Given the description of an element on the screen output the (x, y) to click on. 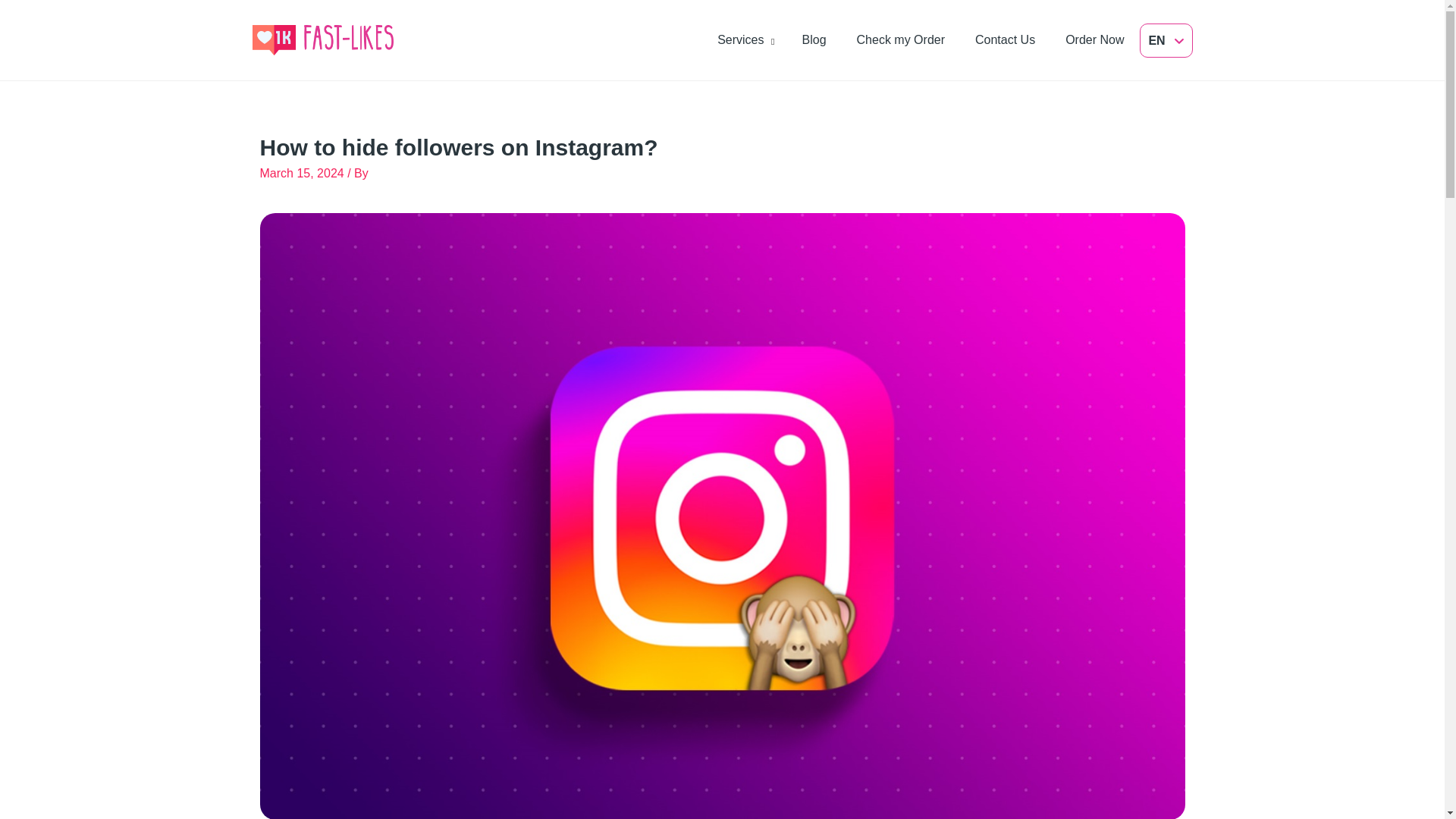
EN (1166, 41)
Services (739, 39)
March 15, 2024 (303, 173)
Check my Order (900, 39)
Order Now (1094, 39)
Contact Us (1005, 39)
